Given the description of an element on the screen output the (x, y) to click on. 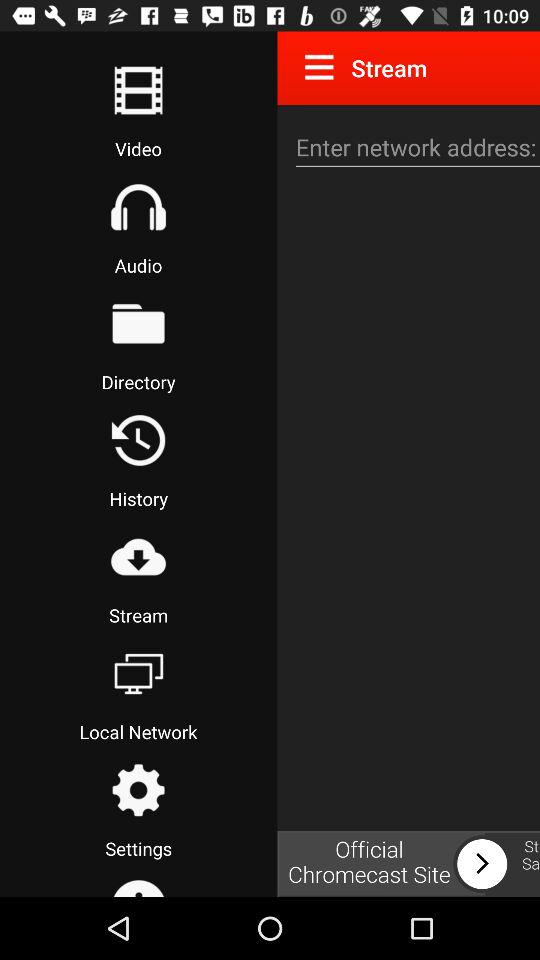
settings (138, 790)
